Given the description of an element on the screen output the (x, y) to click on. 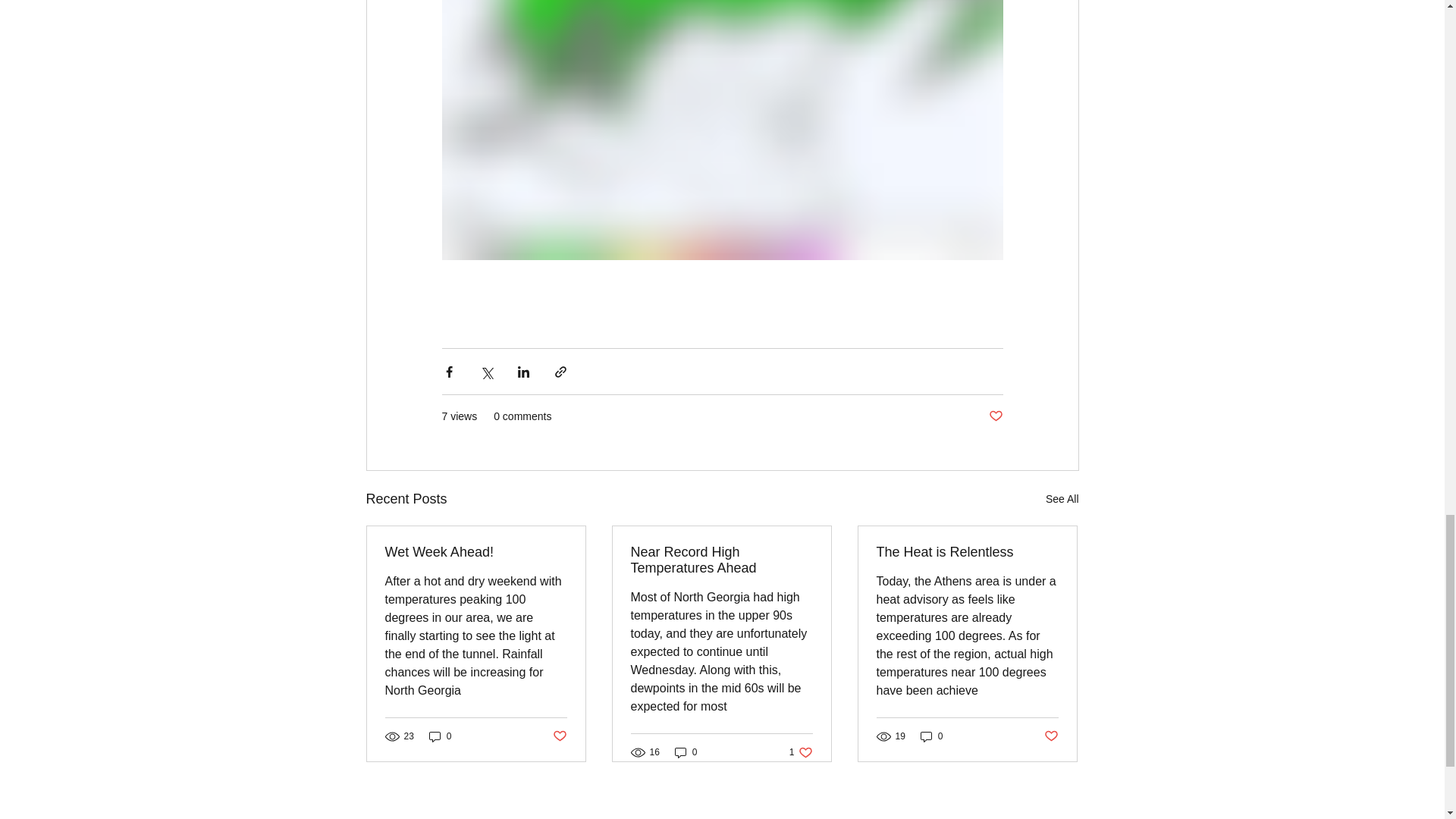
Near Record High Temperatures Ahead (721, 560)
0 (800, 752)
Post not marked as liked (931, 736)
Post not marked as liked (558, 736)
0 (1050, 736)
See All (440, 736)
The Heat is Relentless (1061, 499)
Post not marked as liked (967, 552)
Wet Week Ahead! (995, 416)
0 (476, 552)
